Given the description of an element on the screen output the (x, y) to click on. 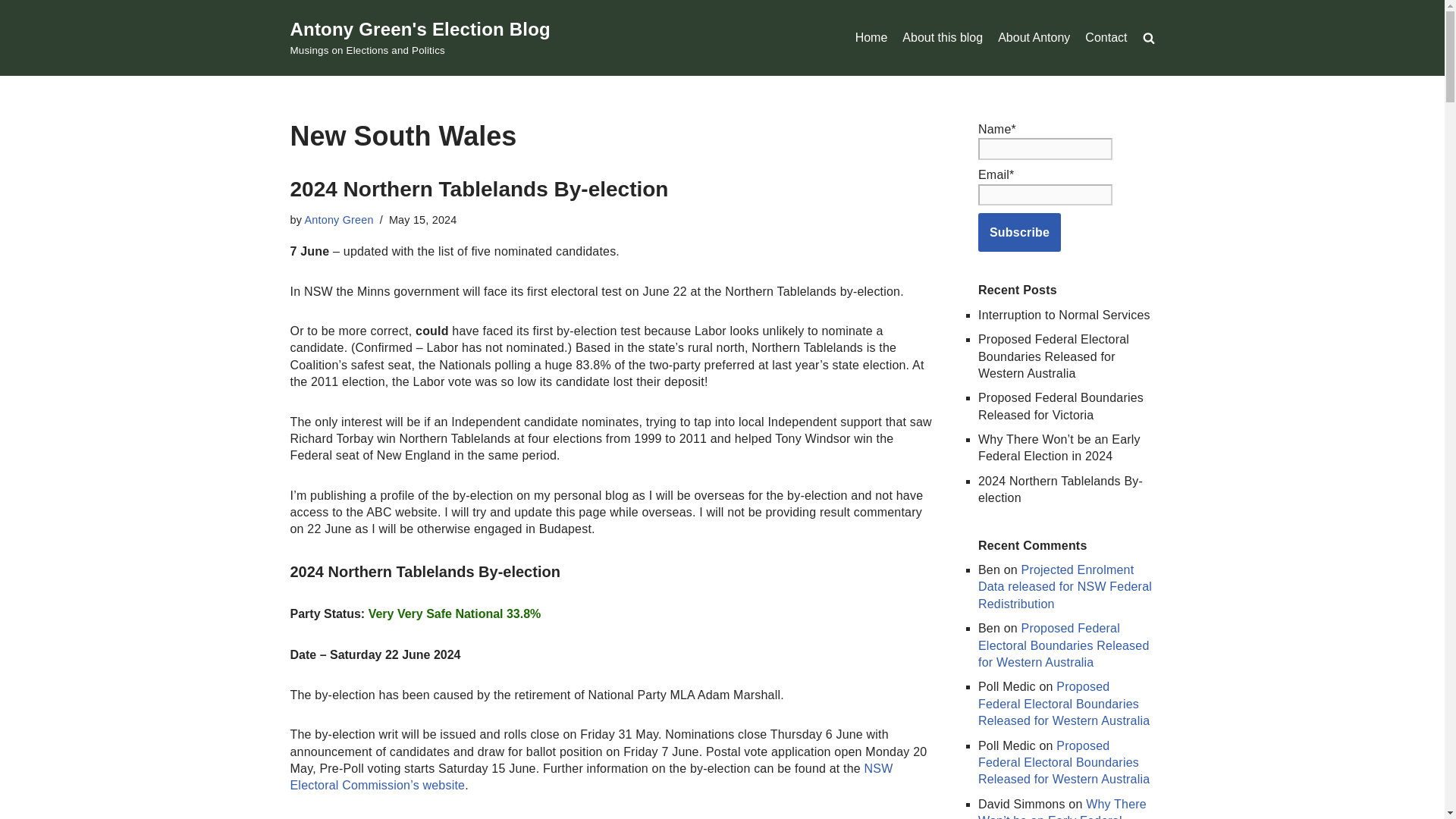
About Antony (1033, 37)
About this blog (942, 37)
Skip to content (11, 31)
Contact (1105, 37)
Subscribe (1019, 232)
Posts by Antony Green (339, 219)
Home (872, 37)
Antony Green (339, 219)
2024 Northern Tablelands By-election (478, 188)
Antony Green's Election Blog (419, 37)
